Given the description of an element on the screen output the (x, y) to click on. 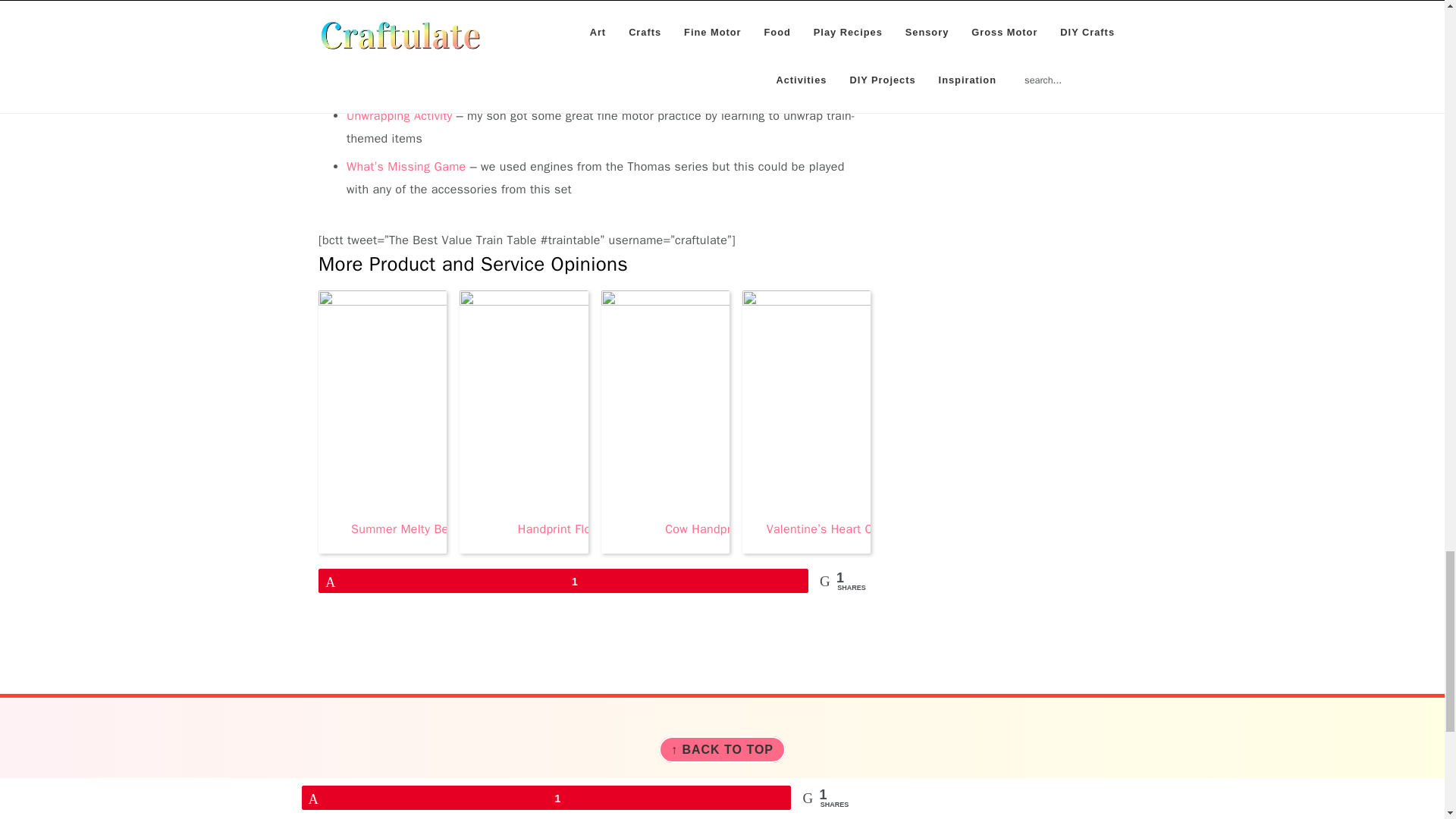
Train-Themed Unwrapping (399, 115)
Alphabet Train (385, 64)
